Given the description of an element on the screen output the (x, y) to click on. 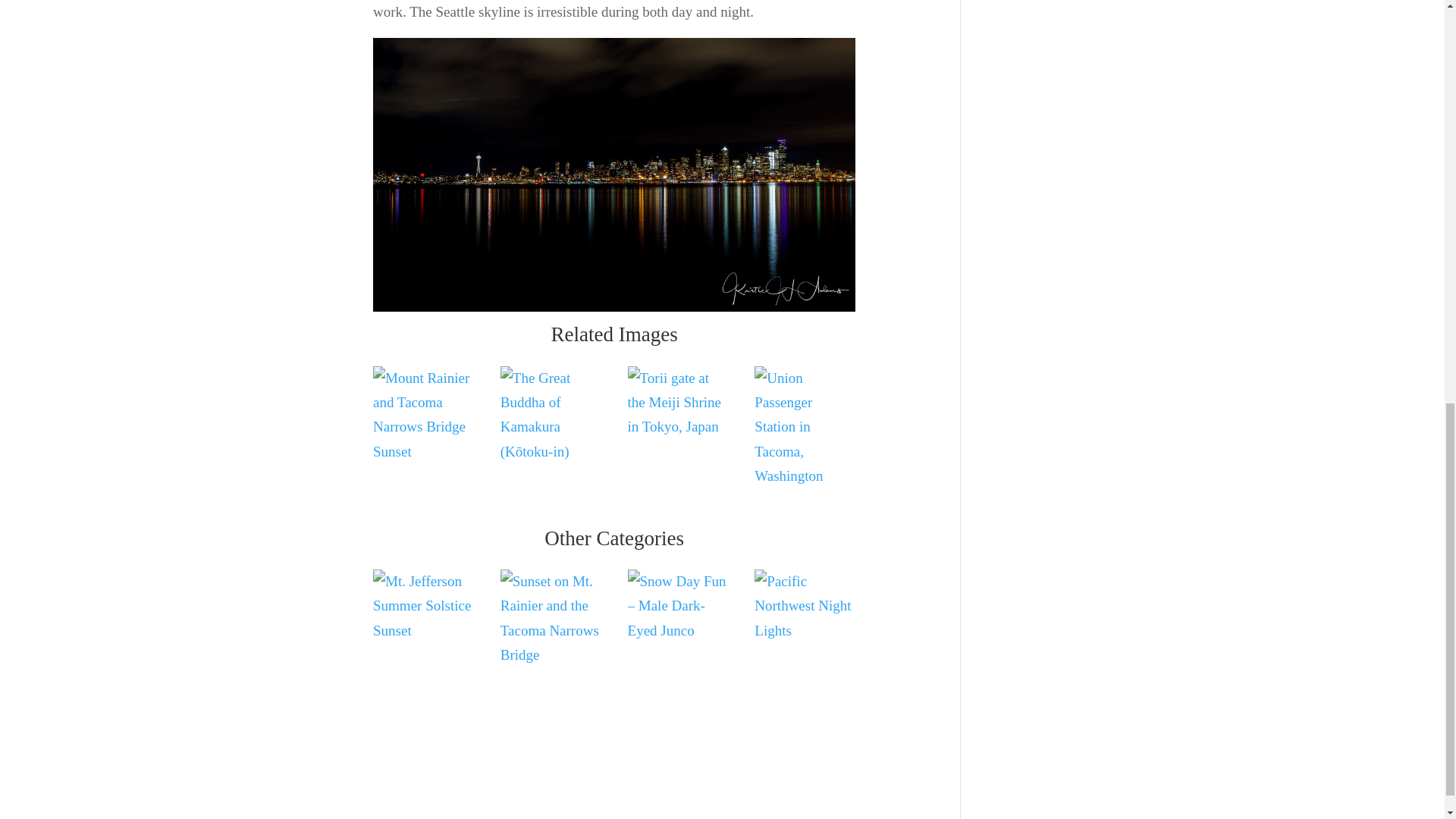
Pacific Northwest Night Lights (805, 605)
Sunset on Mt. Rainier and the Tacoma Narrows Bridge (550, 618)
Seattle, Space Needle, Columbia Tower at Night (614, 311)
Torii gate at the Meiji Shrine in Tokyo, Japan (678, 402)
Union Passenger Station in Tacoma, Washington (805, 427)
Mt. Jefferson Summer Solstice Sunset (423, 605)
Seattle, Space Needle, Columbia Tower at Night (614, 174)
Mount Rainier and Tacoma Narrows Bridge Sunset (423, 415)
